Given the description of an element on the screen output the (x, y) to click on. 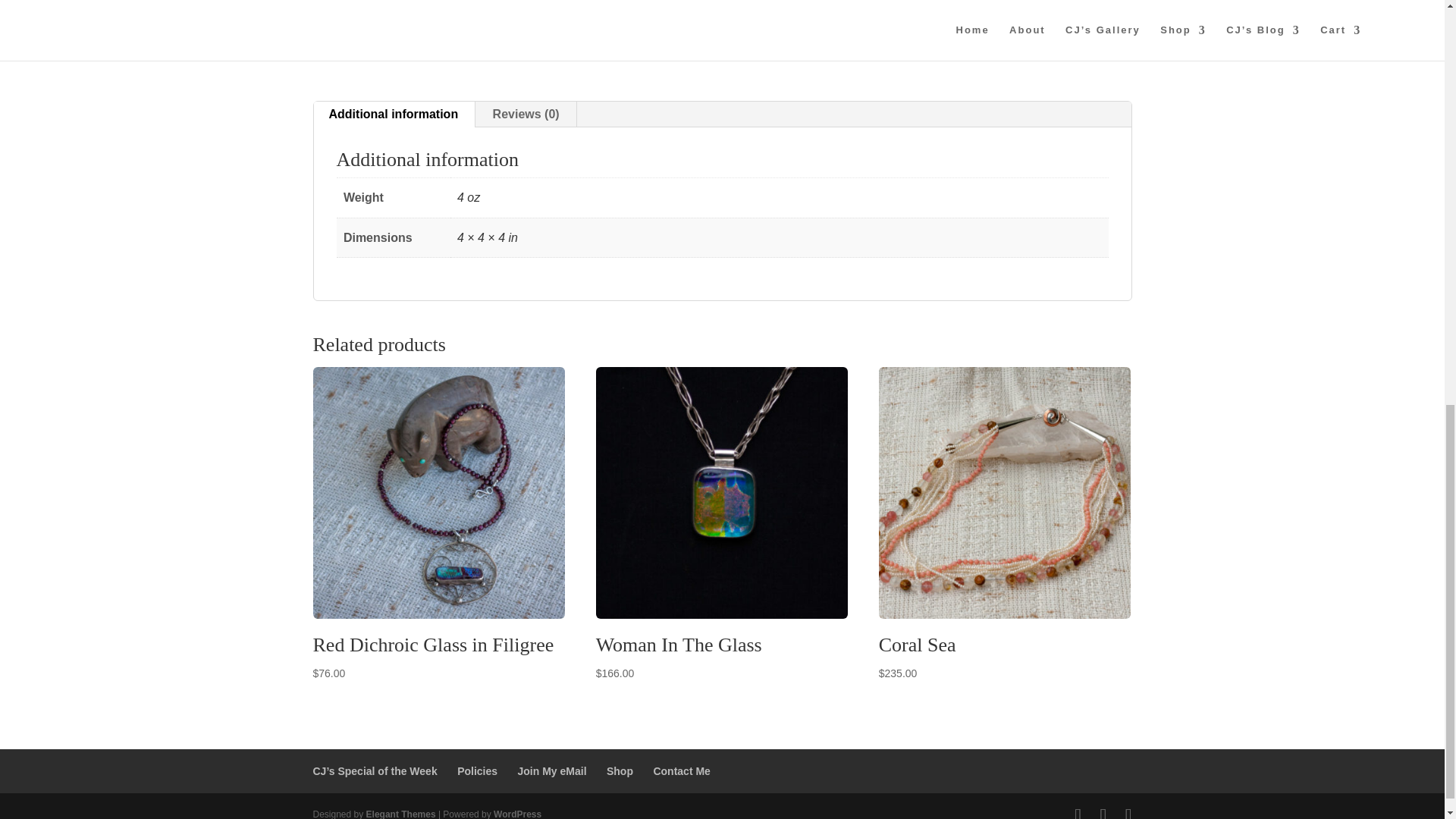
1 (761, 12)
Premium WordPress Themes (400, 814)
